Given the description of an element on the screen output the (x, y) to click on. 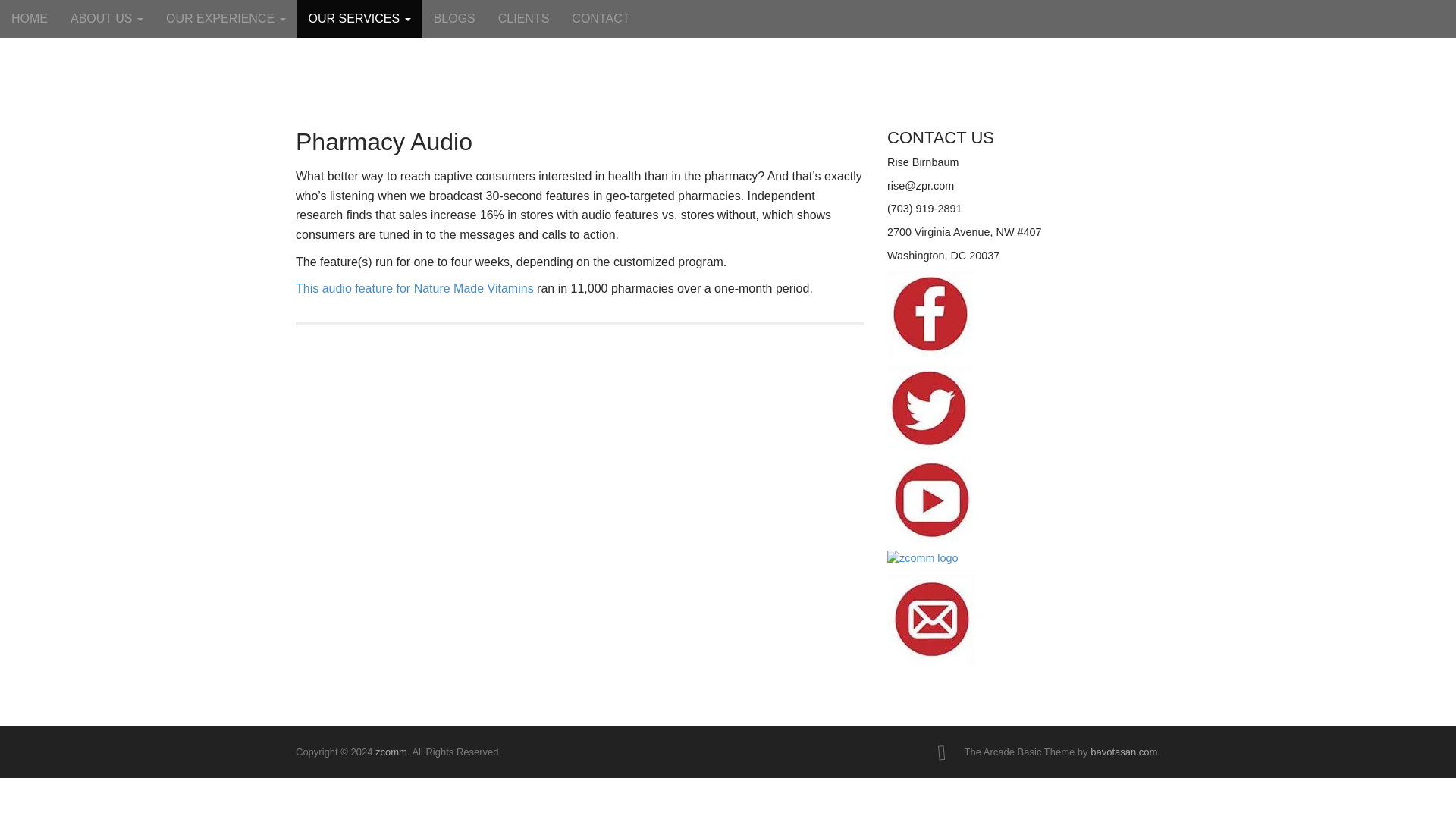
CONTACT (600, 18)
OUR SERVICES (359, 18)
HOME (29, 18)
BLOGS (454, 18)
ABOUT US (106, 18)
This audio feature for Nature Made Vitamins (414, 287)
CLIENTS (523, 18)
OUR EXPERIENCE (225, 18)
